Given the description of an element on the screen output the (x, y) to click on. 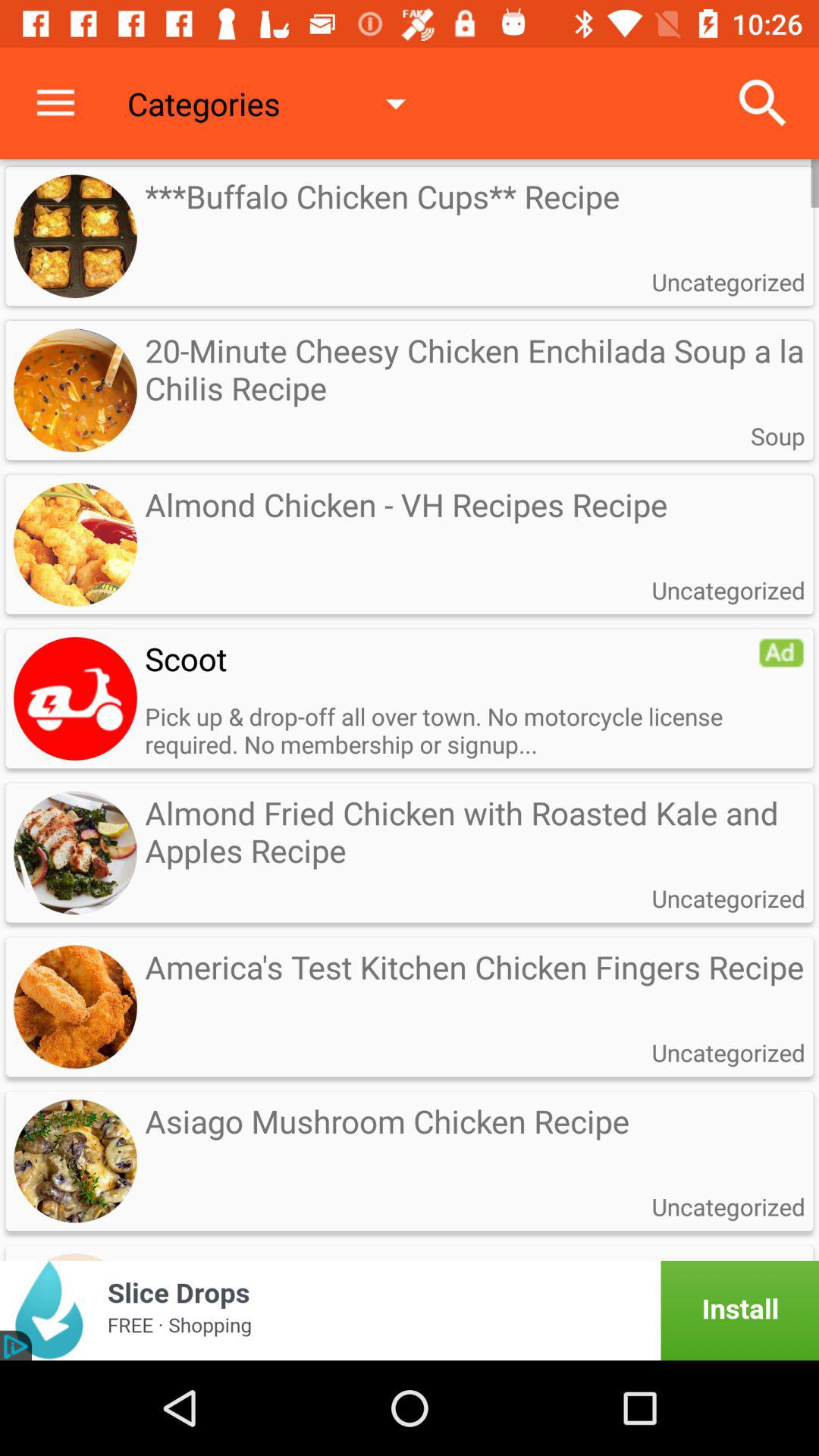
click advertisement banner to install slice drops app (409, 1310)
